Given the description of an element on the screen output the (x, y) to click on. 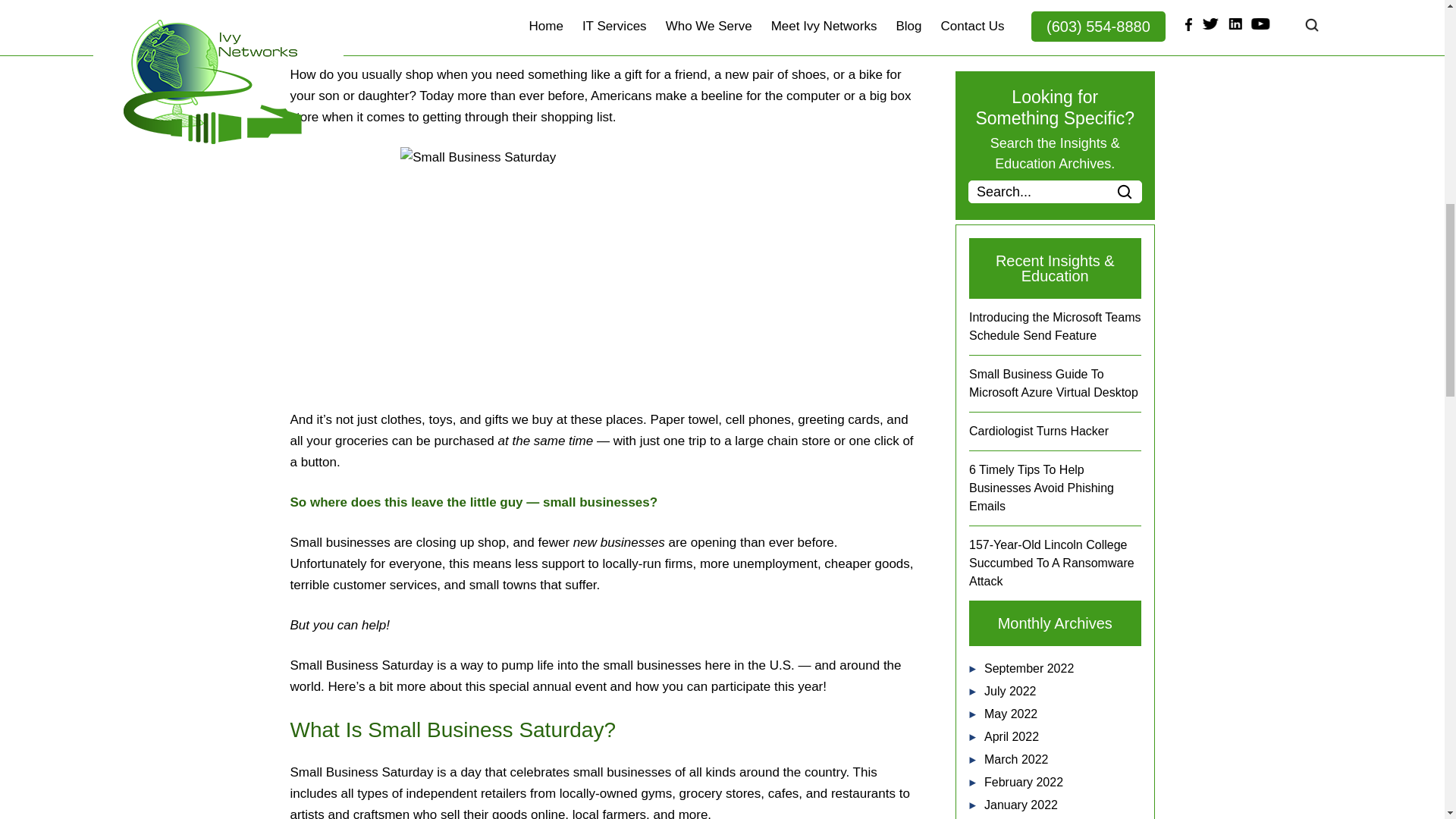
March 2022 (1016, 758)
February 2022 (1023, 781)
Introducing the Microsoft Teams Schedule Send Feature (1054, 326)
September 2022 (1029, 667)
January 2022 (1021, 804)
Small Business Guide To Microsoft Azure Virtual Desktop (1053, 382)
May 2022 (1010, 713)
April 2022 (1011, 736)
Search... (1054, 191)
Cardiologist Turns Hacker (1038, 431)
Search... (1054, 191)
July 2022 (1010, 690)
6 Timely Tips To Help Businesses Avoid Phishing Emails (1041, 487)
